Given the description of an element on the screen output the (x, y) to click on. 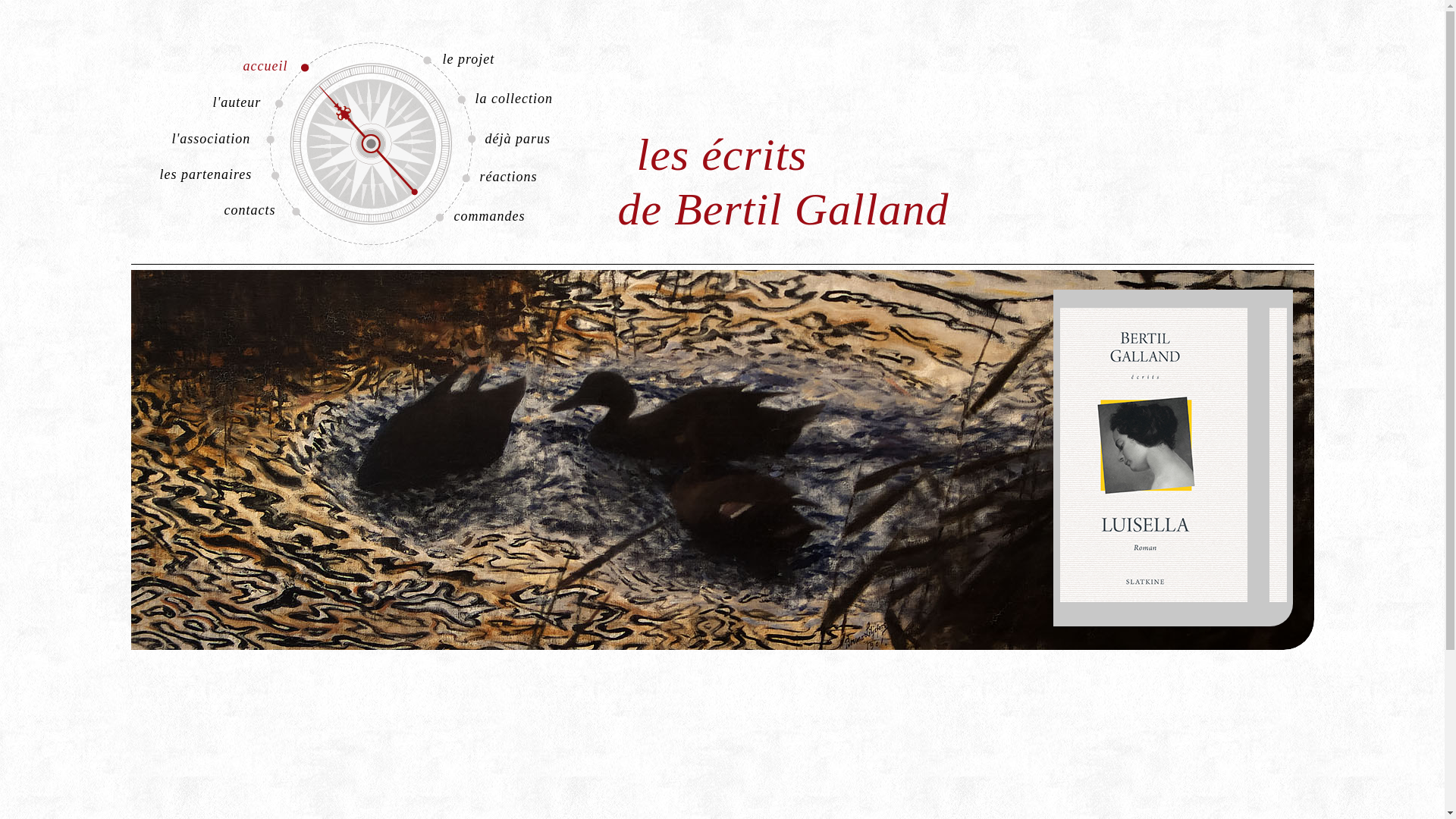
l'association Element type: text (231, 138)
commandes Element type: text (513, 215)
contacts Element type: text (282, 209)
l'auteur Element type: text (272, 102)
le projet Element type: text (501, 59)
accueil Element type: text (301, 65)
les partenaires Element type: text (219, 174)
la collection Element type: text (534, 98)
